Given the description of an element on the screen output the (x, y) to click on. 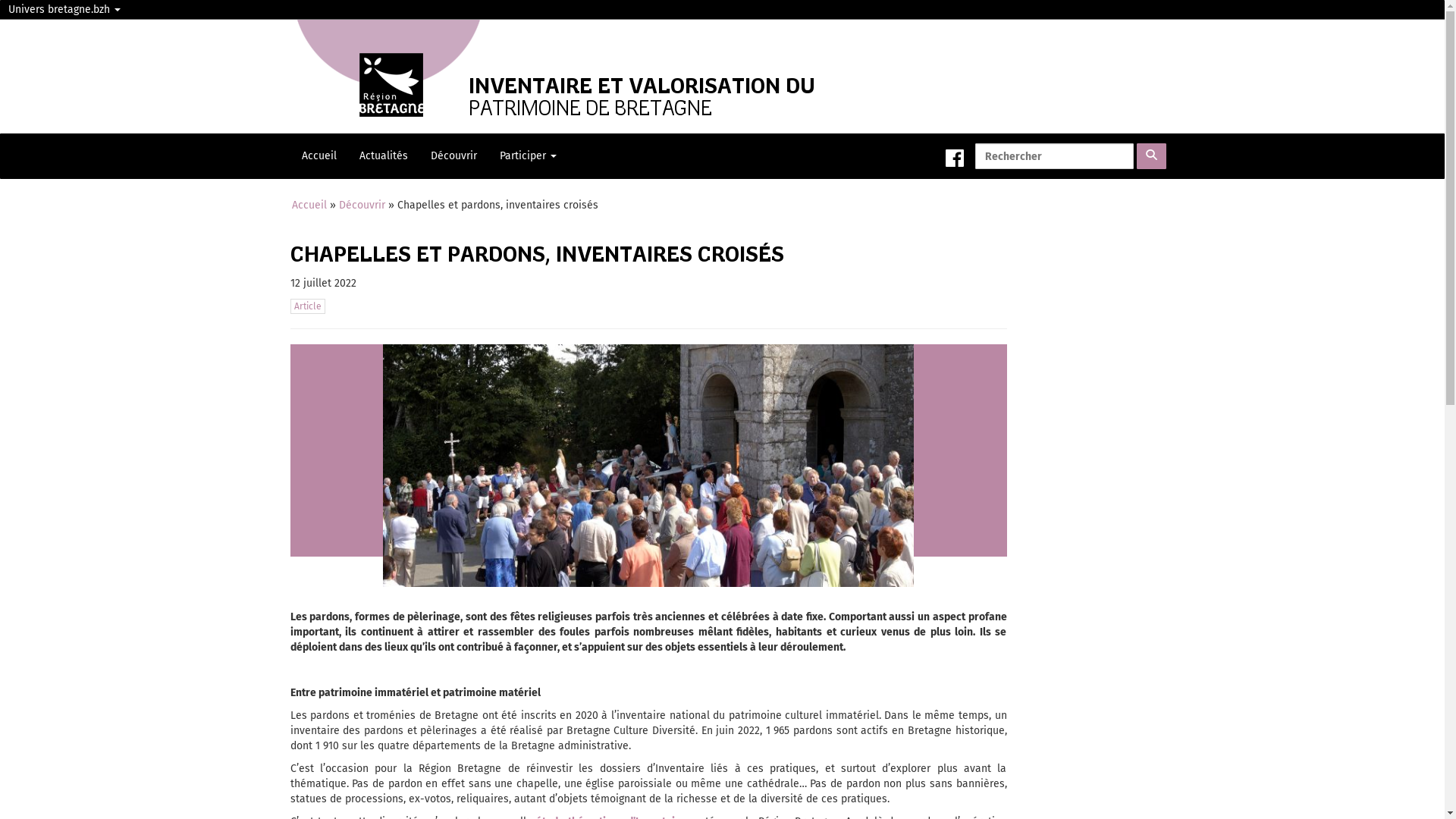
Accueil Element type: text (318, 155)
INVENTAIRE ET VALORISATION DU
PATRIMOINE DE BRETAGNE Element type: text (611, 80)
Accueil Element type: text (308, 204)
Article Element type: text (306, 305)
Univers bretagne.bzh Element type: text (64, 9)
Participer Element type: text (527, 155)
